Given the description of an element on the screen output the (x, y) to click on. 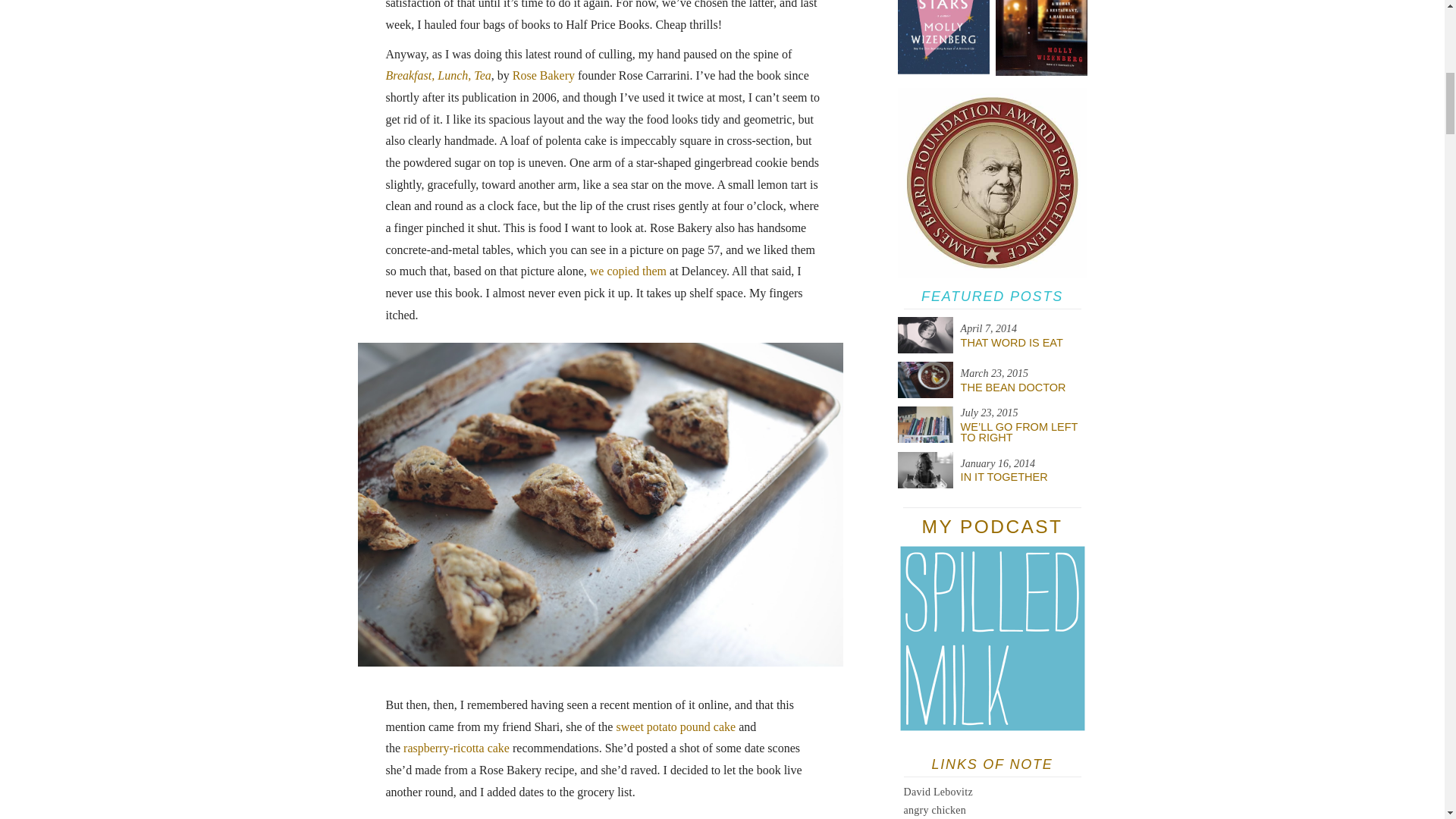
Rose Bakery (543, 74)
sweet potato pound cake (675, 726)
raspberry-ricotta cake (456, 748)
Breakfast, Lunch, Tea (437, 74)
we copied them (627, 270)
